Given the description of an element on the screen output the (x, y) to click on. 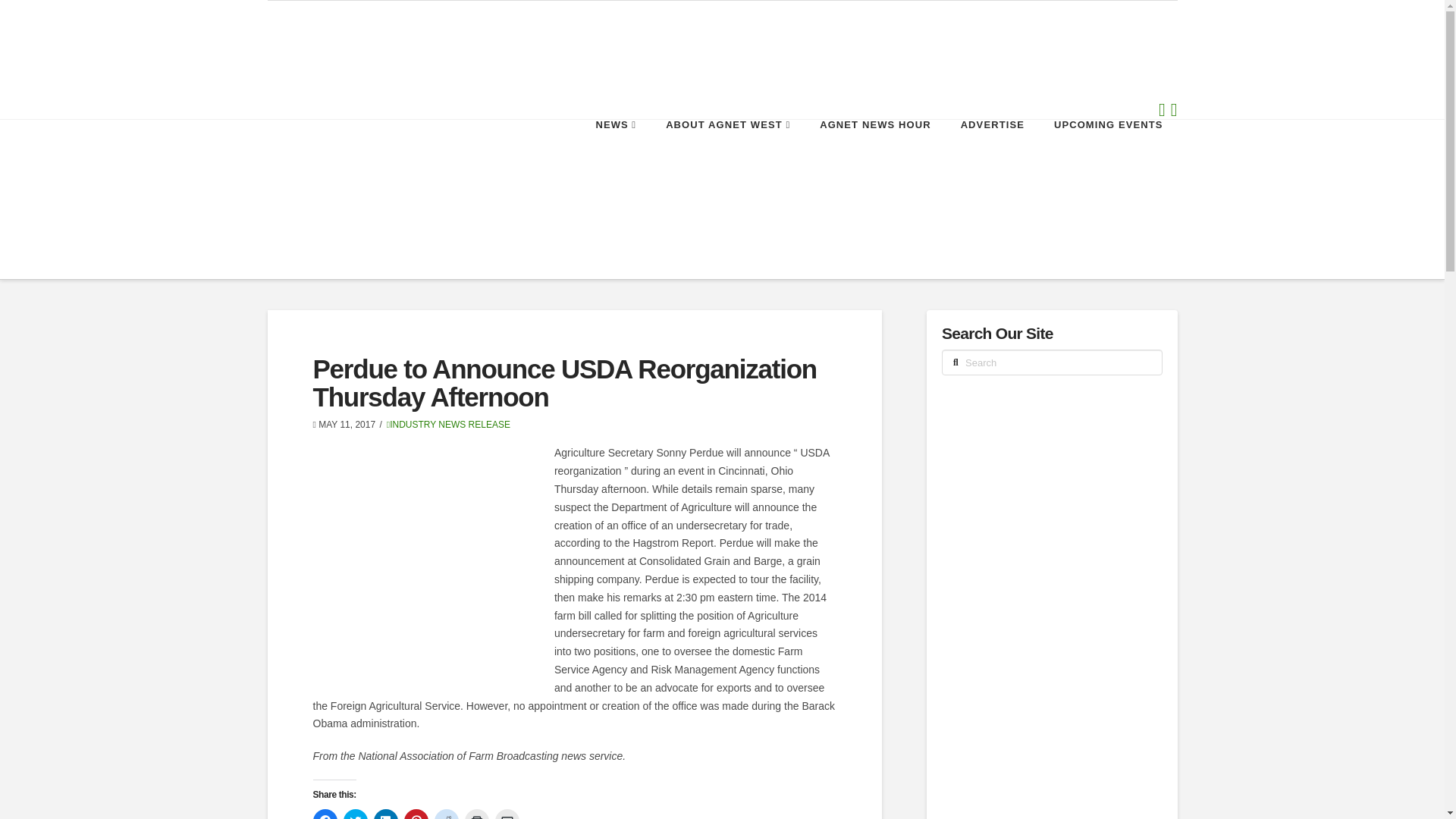
3rd party ad content (1055, 499)
3rd party ad content (1055, 718)
Click to share on LinkedIn (384, 814)
Click to share on Facebook (324, 814)
Click to print (475, 814)
Click to email a link to a friend (506, 814)
Click to share on Pinterest (415, 814)
NEWS (614, 153)
Click to share on Reddit (445, 814)
Click to share on Twitter (354, 814)
